Given the description of an element on the screen output the (x, y) to click on. 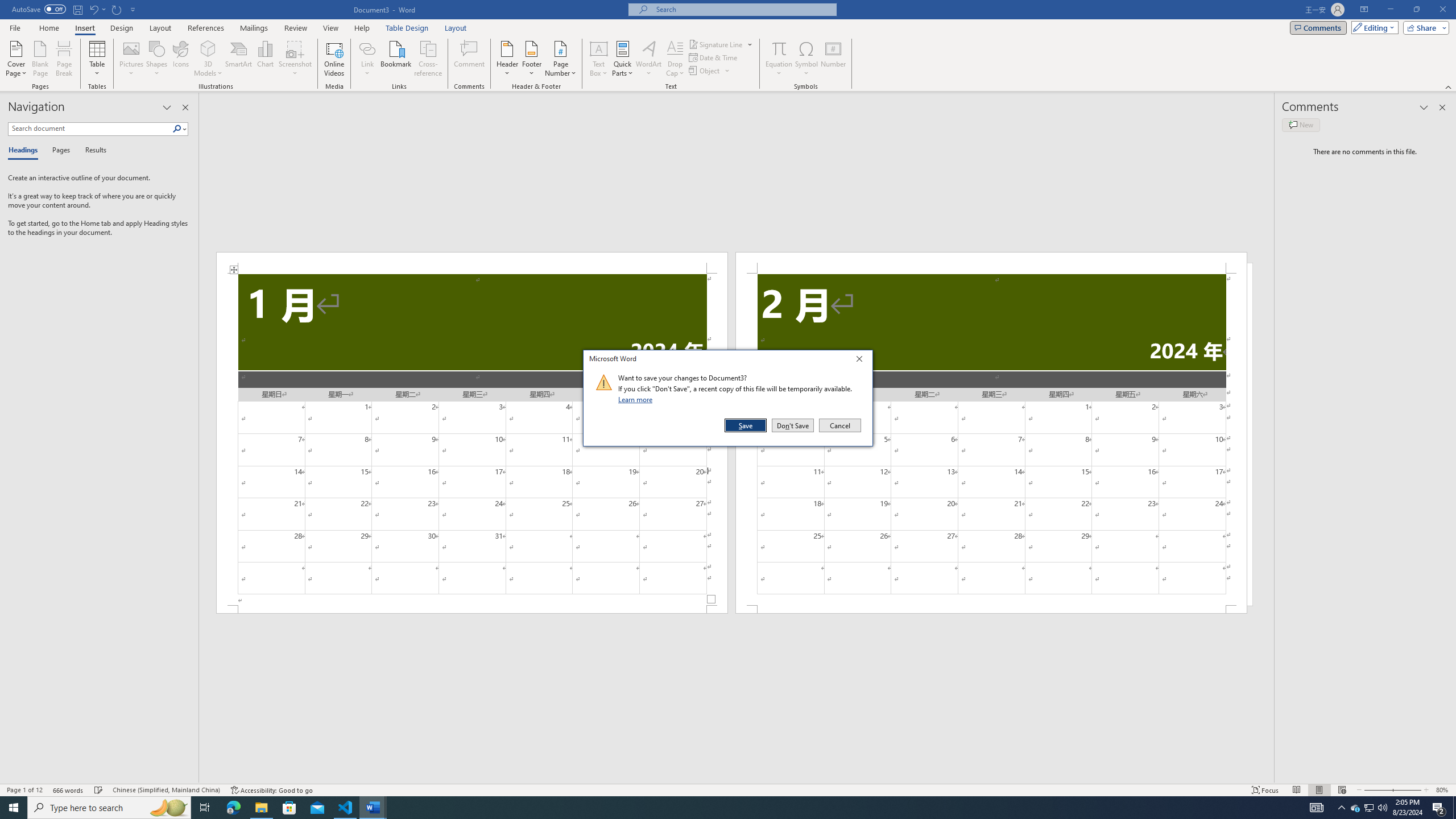
Running applications (717, 807)
Icons (180, 58)
Cross-reference... (428, 58)
